Given the description of an element on the screen output the (x, y) to click on. 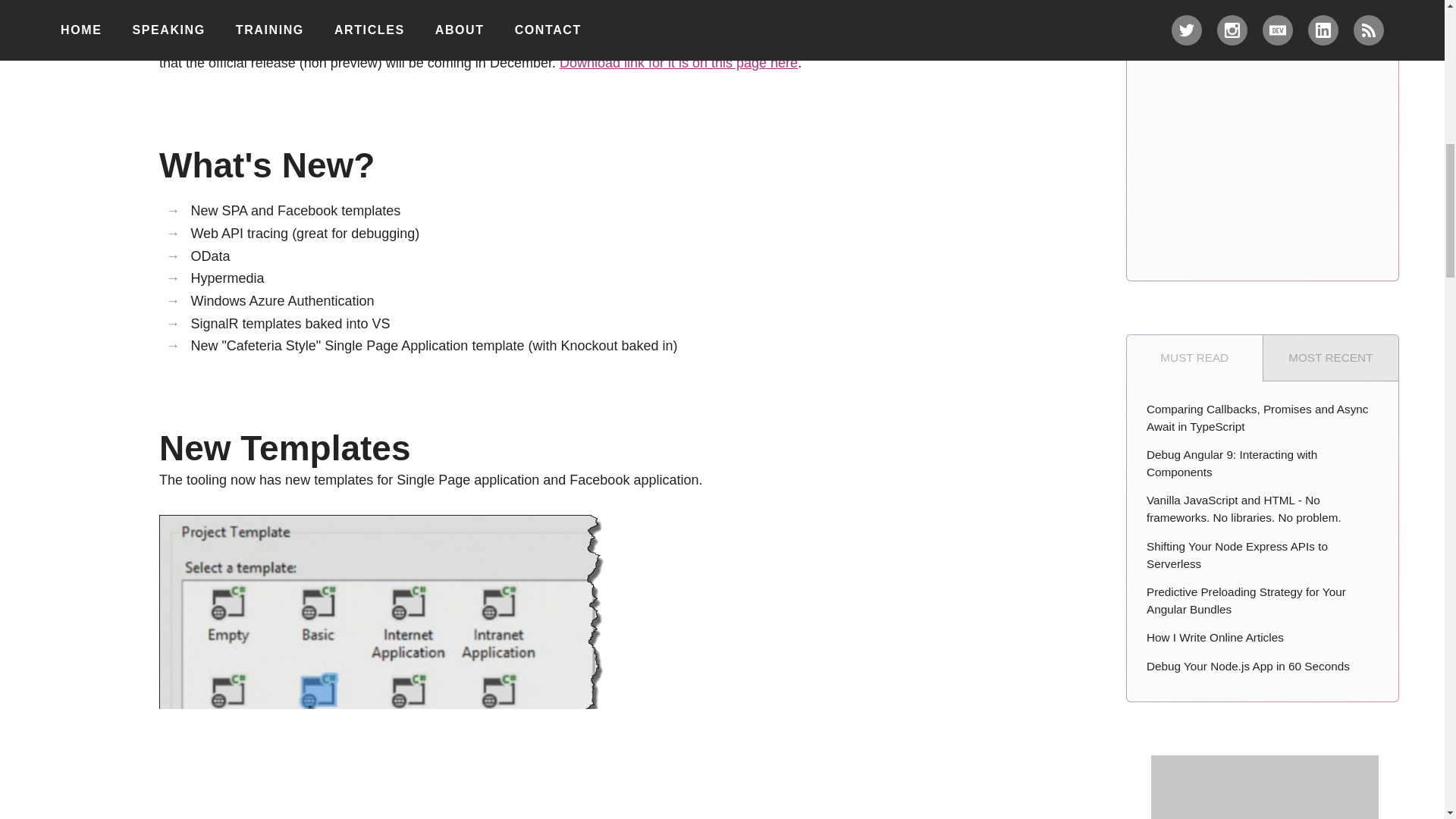
ASP.NET Fall 2012 Update BUILD Prelease  (399, 40)
Download link for it is on this page here (678, 62)
